Given the description of an element on the screen output the (x, y) to click on. 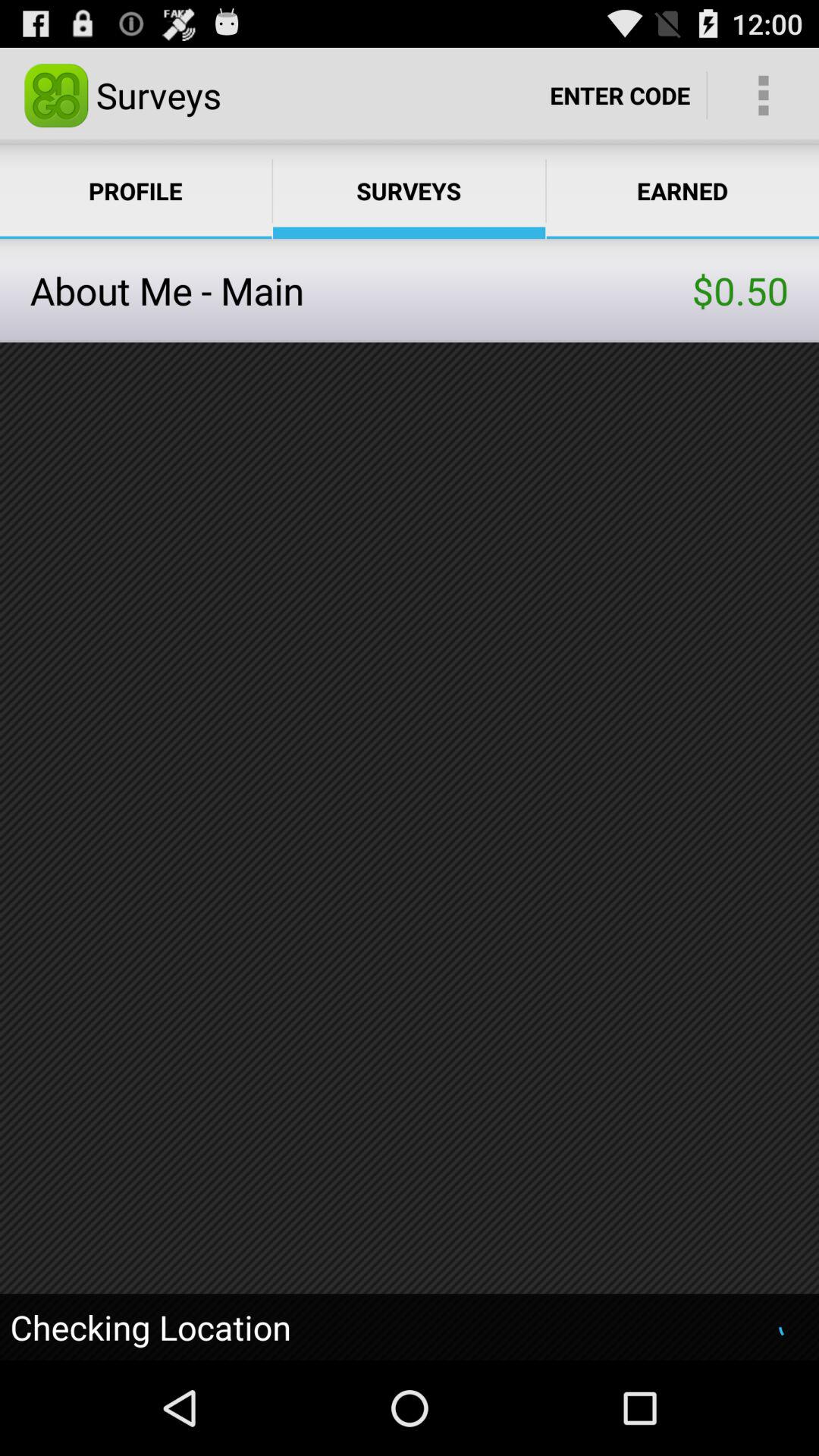
choose the icon to the left of the $0.50 item (361, 290)
